Given the description of an element on the screen output the (x, y) to click on. 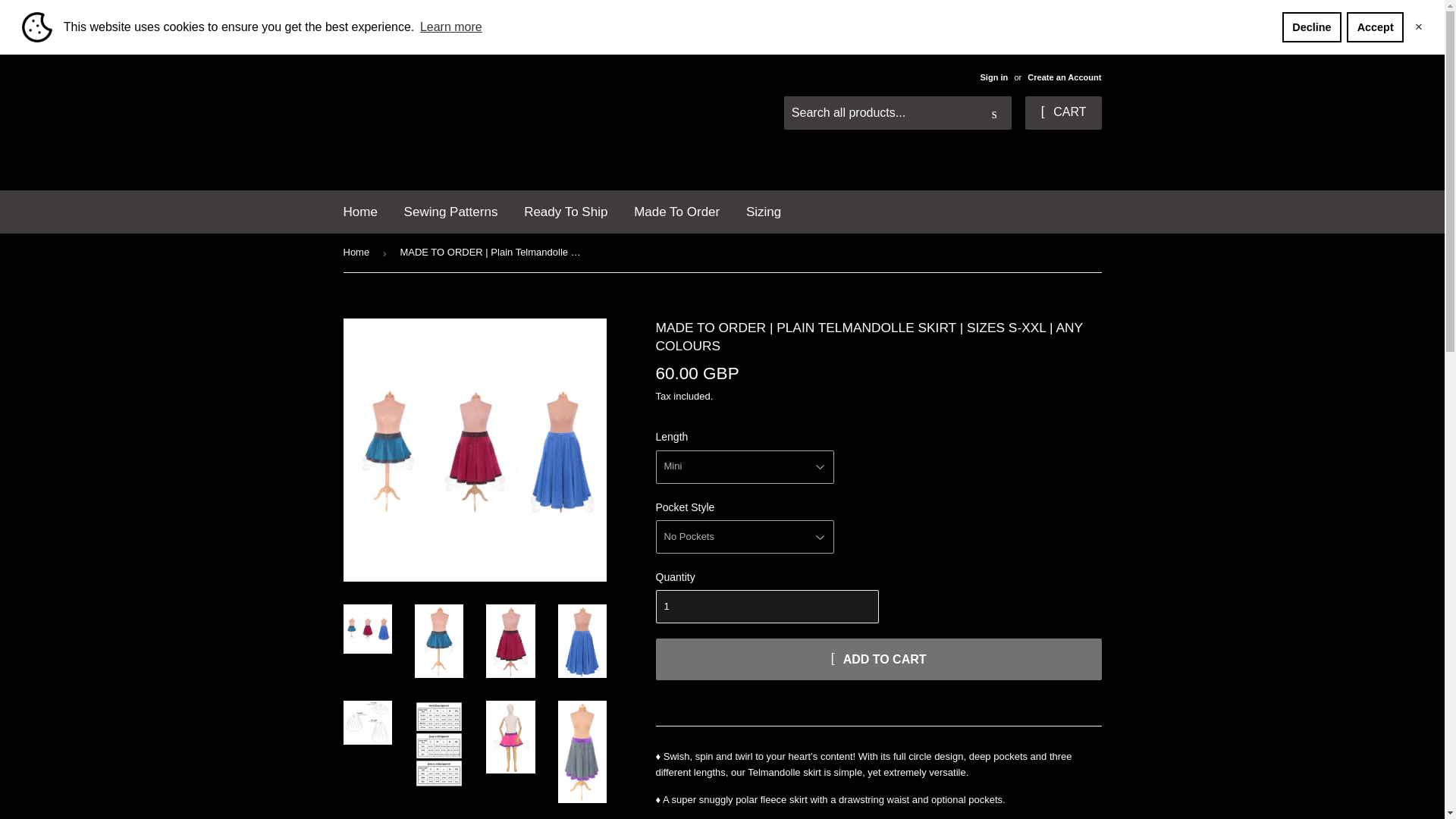
1 (766, 606)
Decline (1311, 27)
Create an Account (1063, 76)
Home (359, 211)
Learn more (450, 26)
Search (993, 113)
Accept (1374, 27)
CART (1062, 112)
Ready To Ship (565, 211)
Sewing Patterns (451, 211)
Made To Order (676, 211)
Sign in (993, 76)
Sizing (763, 211)
